Given the description of an element on the screen output the (x, y) to click on. 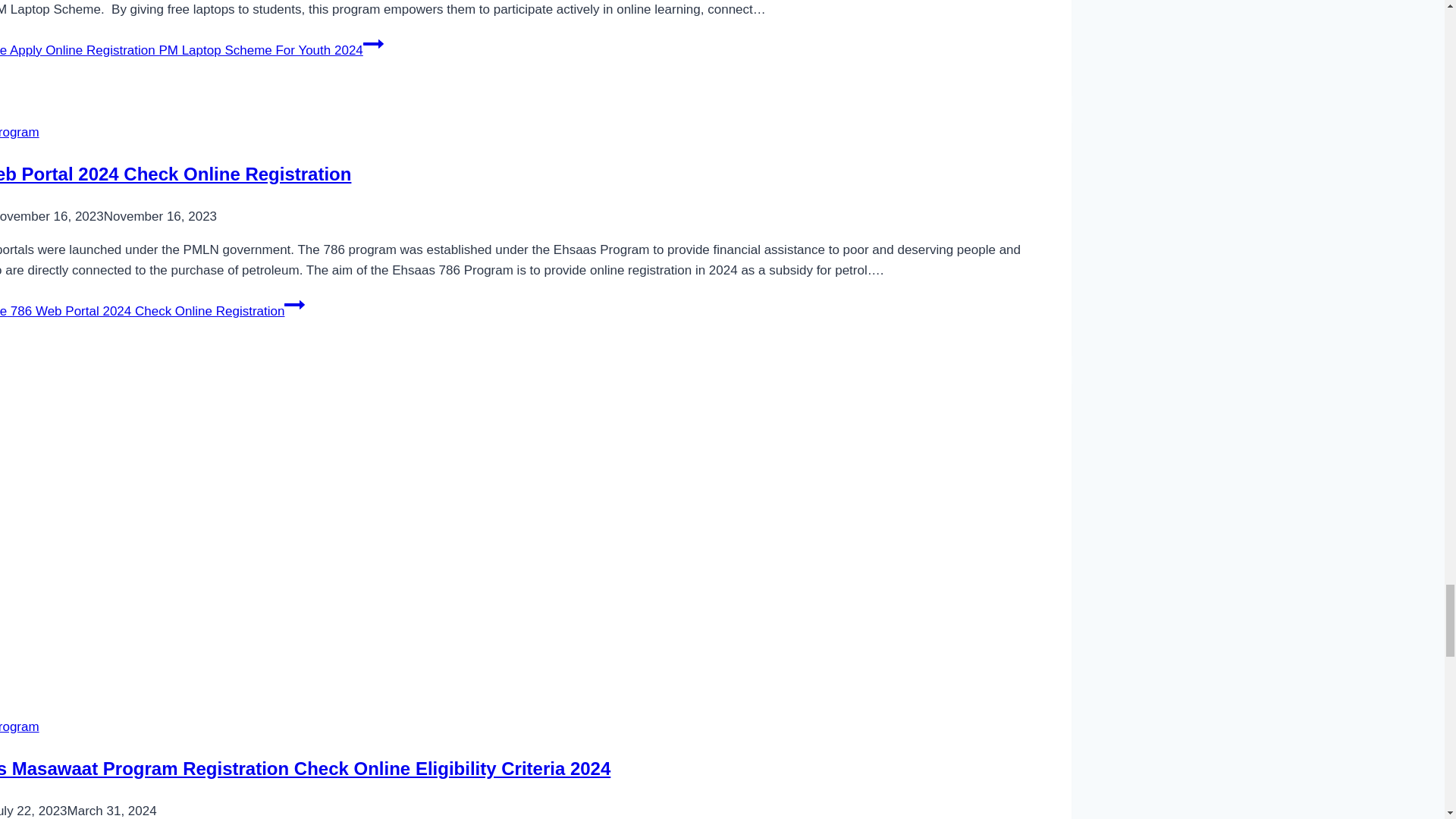
Ehsaas Program (19, 726)
Continue (373, 43)
Continue (293, 304)
786 Web Portal 2024 Check Online Registration (175, 173)
Ehsaas Program (19, 132)
